Given the description of an element on the screen output the (x, y) to click on. 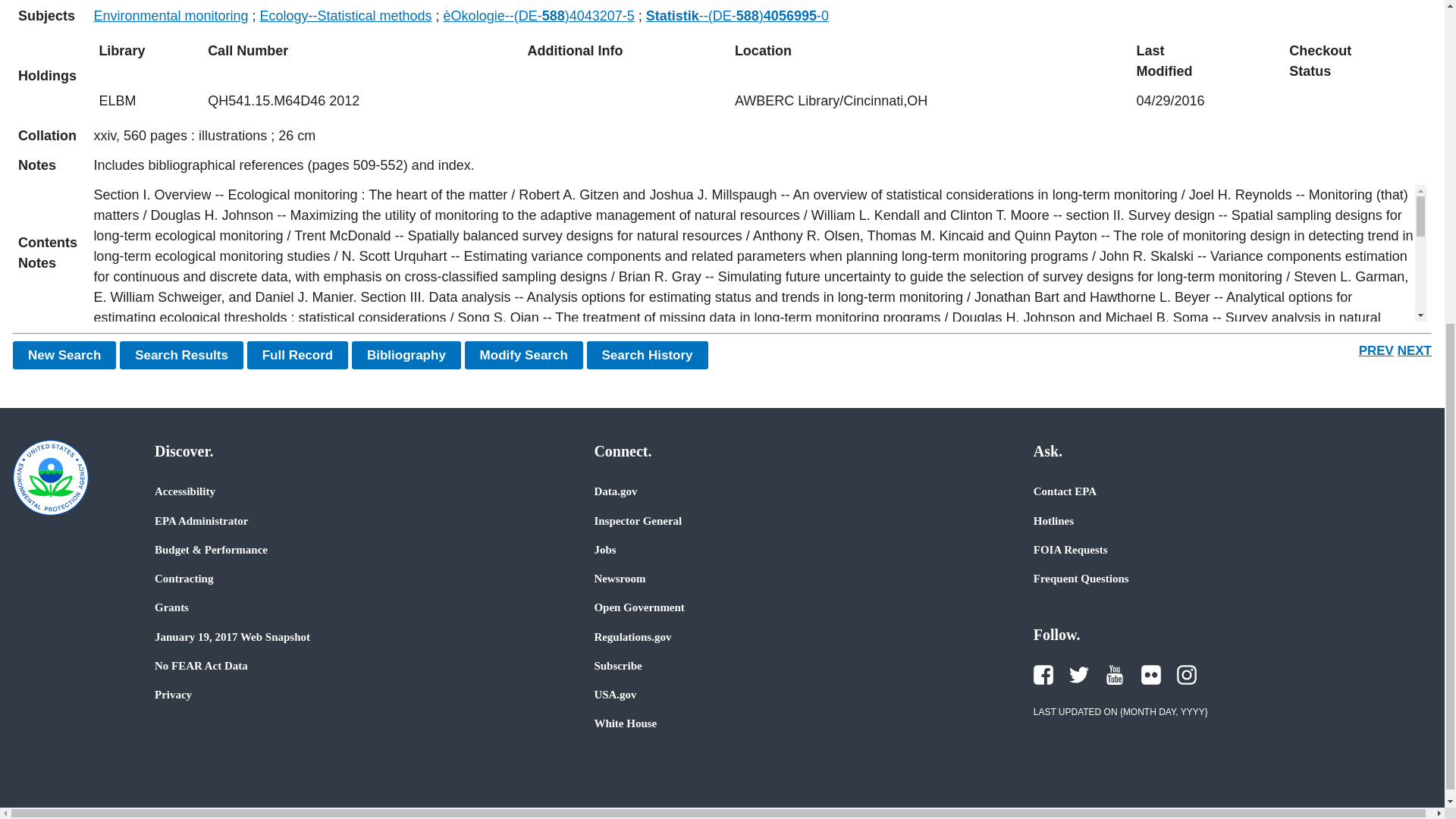
Full Record (298, 355)
Search Results (181, 355)
Show results in standard format (181, 355)
Regulations.gov (632, 636)
USA.gov (615, 694)
Environmental monitoring (170, 15)
Jobs (604, 549)
Grants (171, 607)
January 19, 2017 Web Snapshot (232, 636)
EPA Administrator (200, 520)
